Given the description of an element on the screen output the (x, y) to click on. 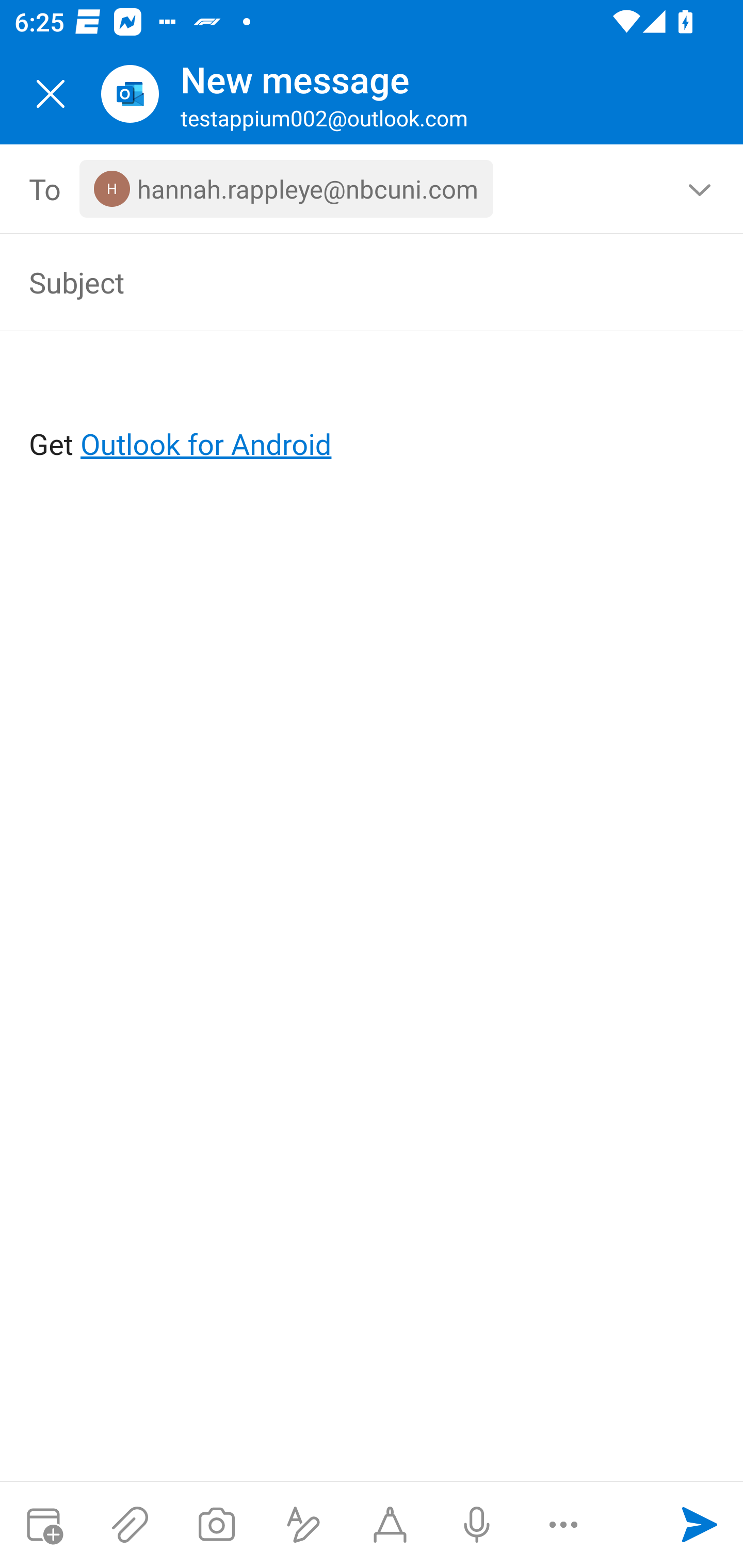
Close (50, 93)
Subject (342, 281)


Get Outlook for Android (372, 411)
Attach meeting (43, 1524)
Attach files (129, 1524)
Take a photo (216, 1524)
Show formatting options (303, 1524)
Start Ink compose (389, 1524)
Dictation (476, 1524)
More options (563, 1524)
Send (699, 1524)
